Given the description of an element on the screen output the (x, y) to click on. 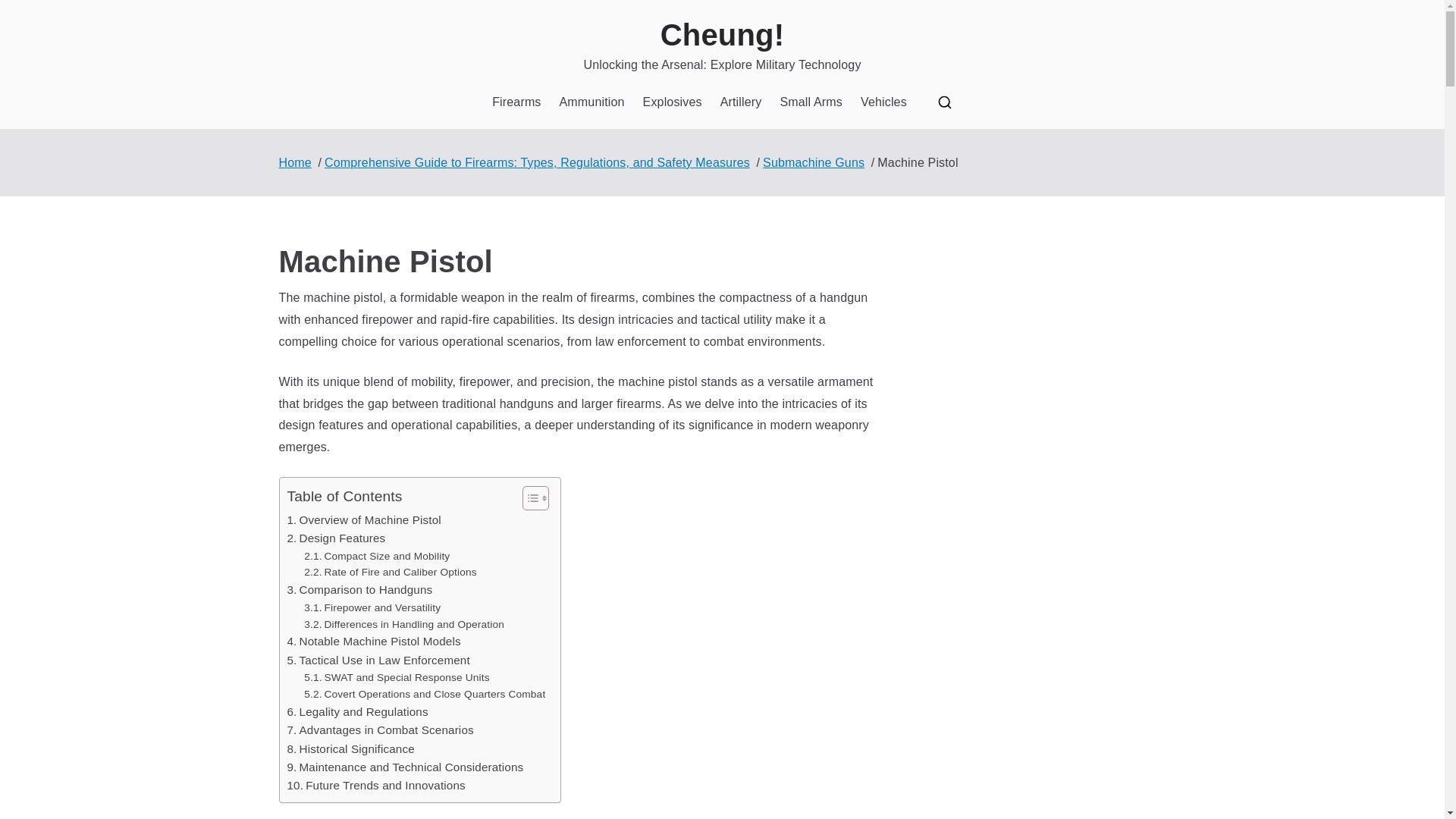
Design Features (335, 538)
Differences in Handling and Operation (403, 624)
Future Trends and Innovations (375, 785)
Small Arms (810, 102)
Submachine Guns (813, 162)
Compact Size and Mobility (376, 556)
Legality and Regulations (357, 711)
SWAT and Special Response Units (396, 677)
Overview of Machine Pistol (363, 520)
Cheung! (722, 34)
Covert Operations and Close Quarters Combat (424, 694)
Explosives (672, 102)
Maintenance and Technical Considerations (404, 767)
SWAT and Special Response Units (396, 677)
Firepower and Versatility (372, 607)
